Given the description of an element on the screen output the (x, y) to click on. 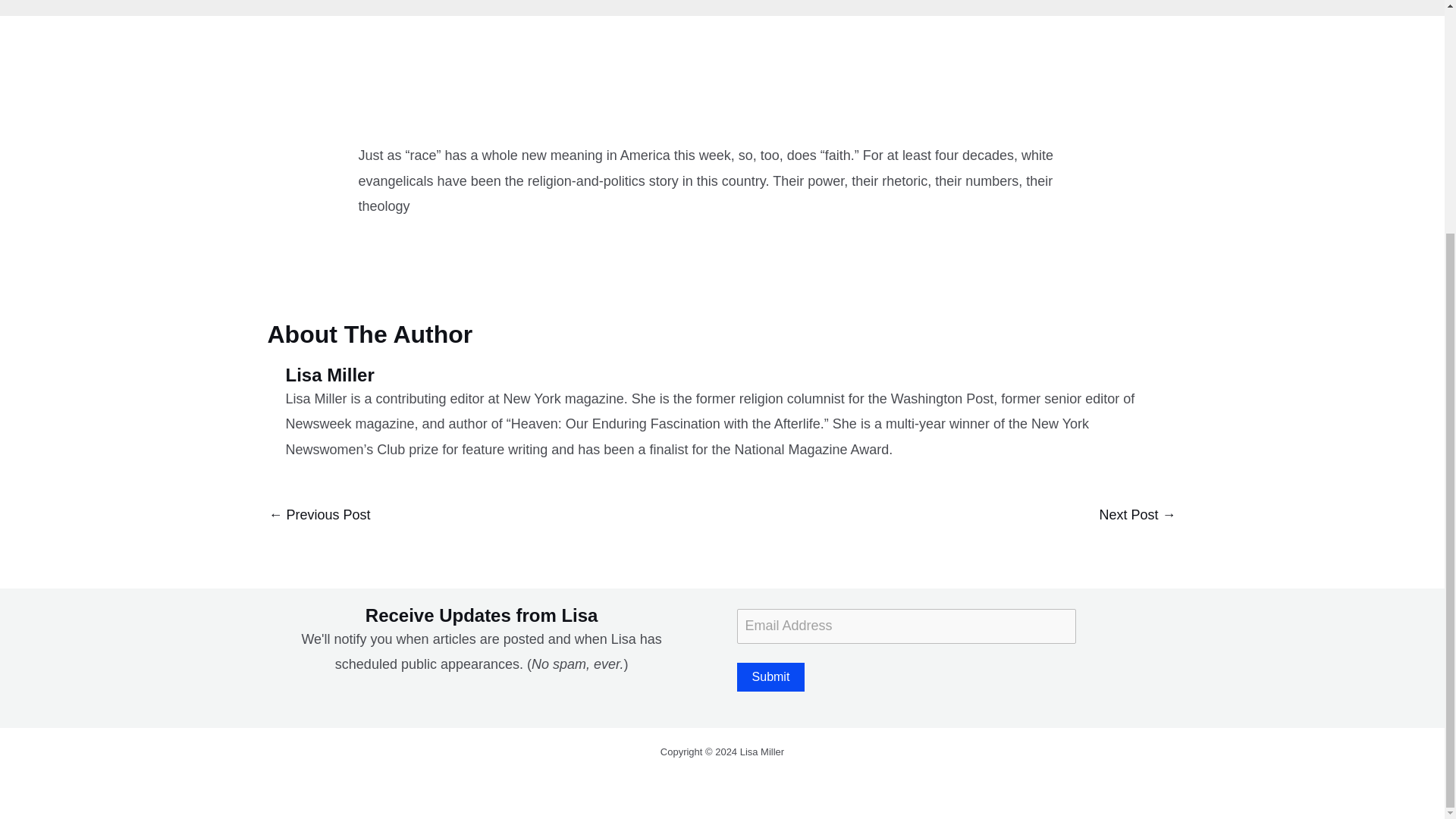
Submit (770, 676)
The Silent Issue (318, 516)
Lisa Miller (730, 375)
Science and Faith : Complementary or Contradictory? (1136, 516)
